Given the description of an element on the screen output the (x, y) to click on. 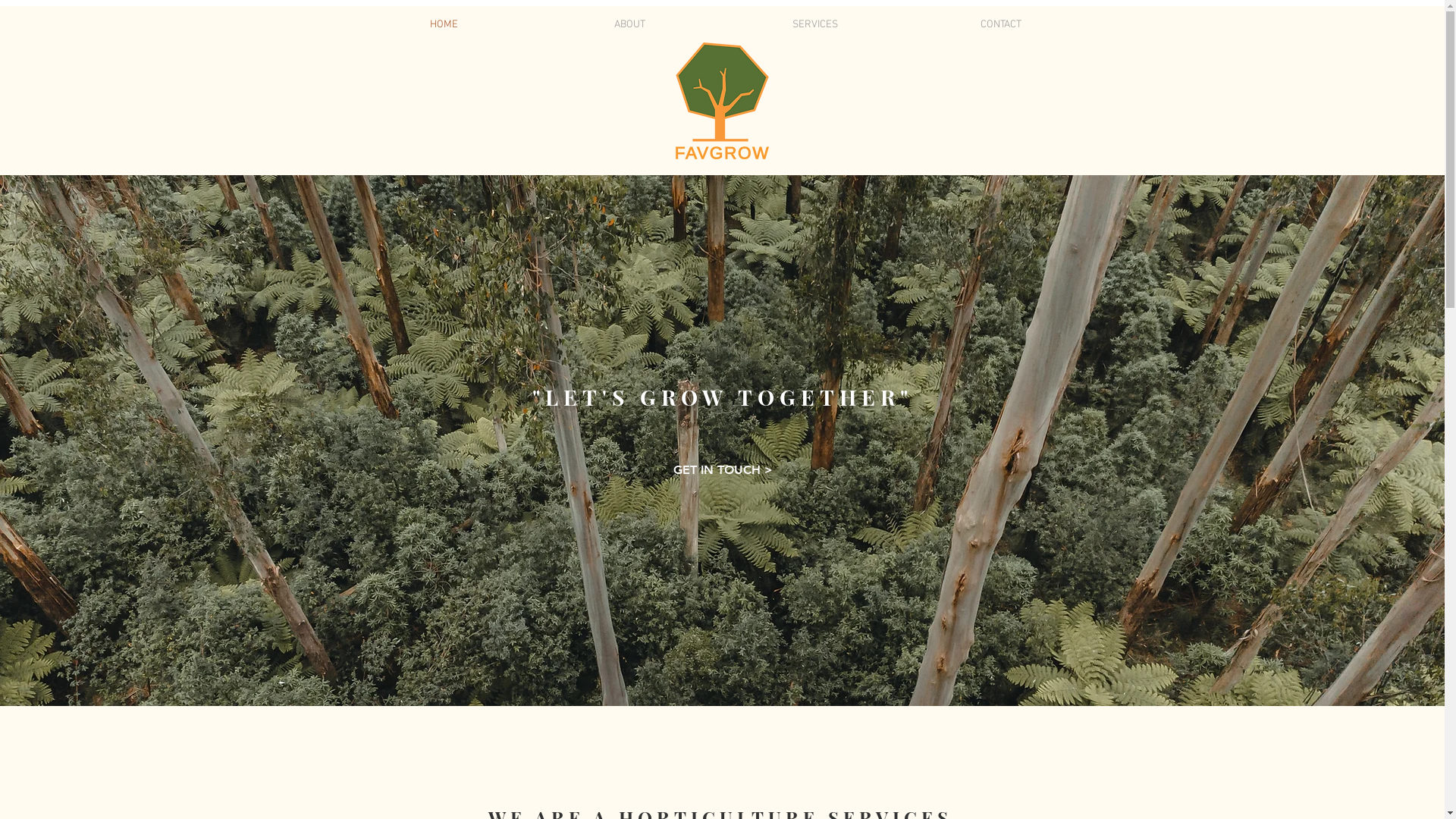
SERVICES Element type: text (814, 24)
ABOUT Element type: text (629, 24)
GET IN TOUCH > Element type: text (722, 469)
HOME Element type: text (443, 24)
CONTACT Element type: text (1001, 24)
